Given the description of an element on the screen output the (x, y) to click on. 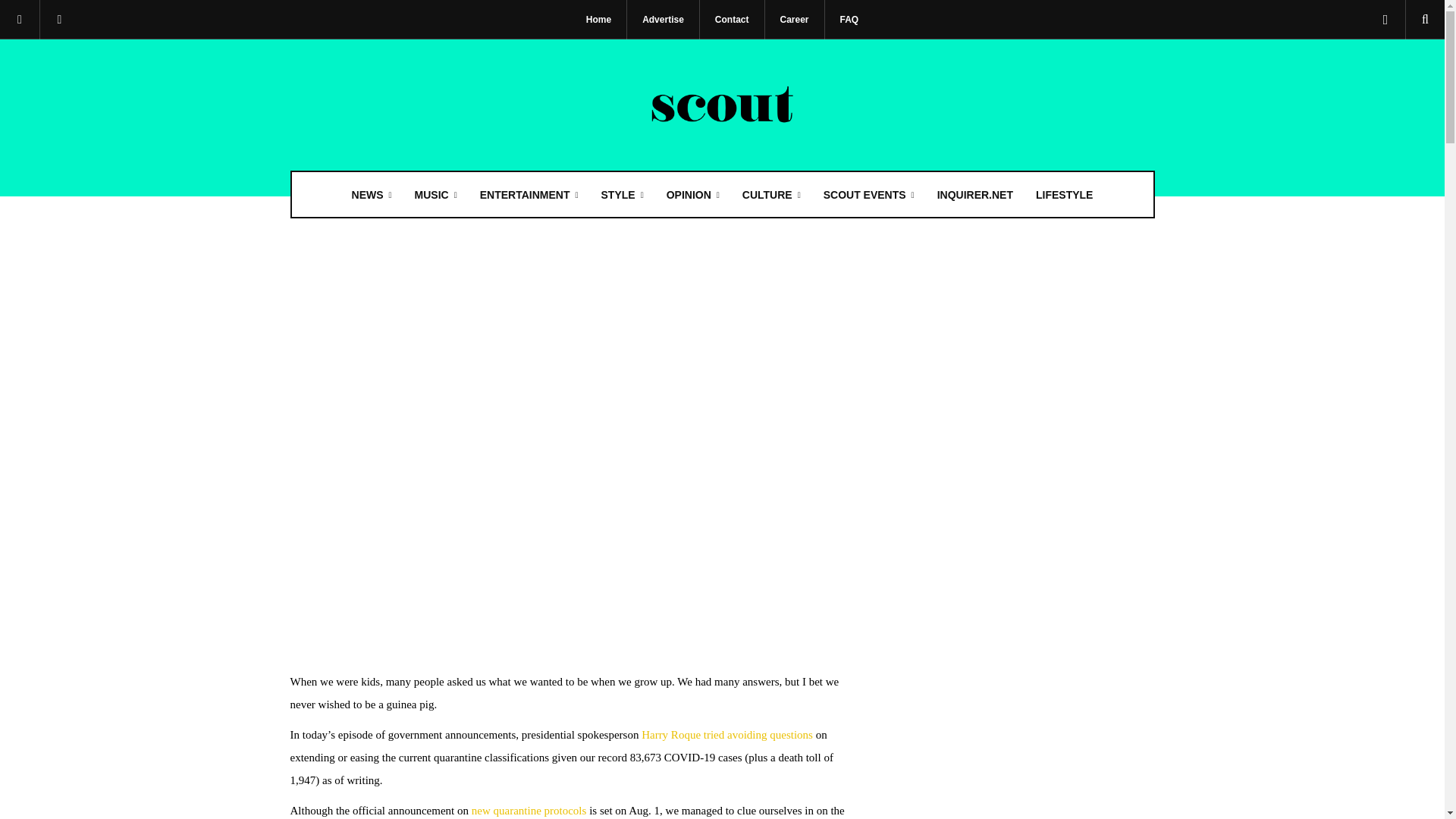
NEWS (371, 194)
Advertise (662, 19)
Home (598, 19)
Contact (732, 19)
MUSIC (435, 194)
Career (794, 19)
FAQ (850, 19)
